Given the description of an element on the screen output the (x, y) to click on. 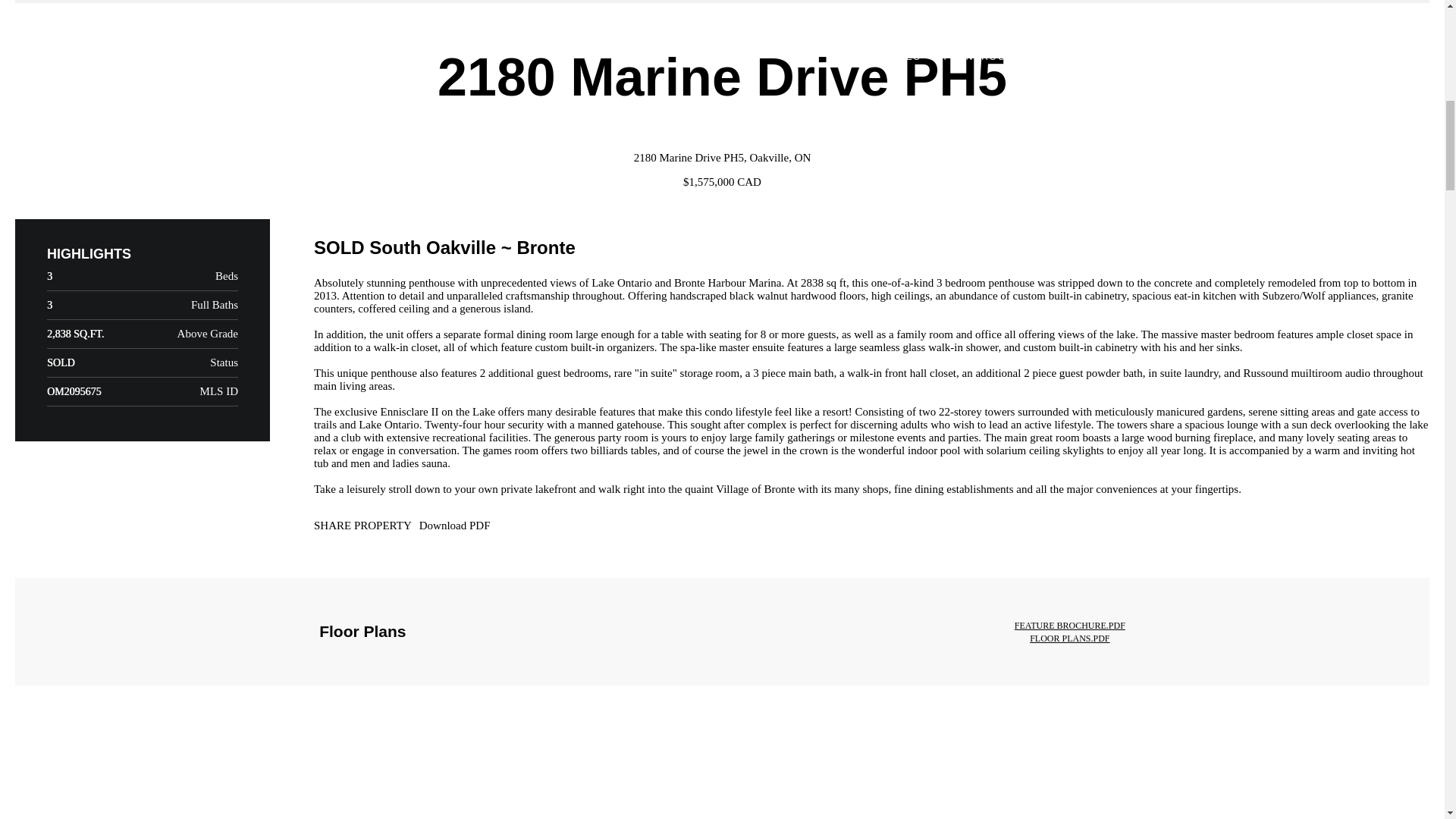
SHARE PROPERTY (363, 525)
Download PDF (513, 525)
